Given the description of an element on the screen output the (x, y) to click on. 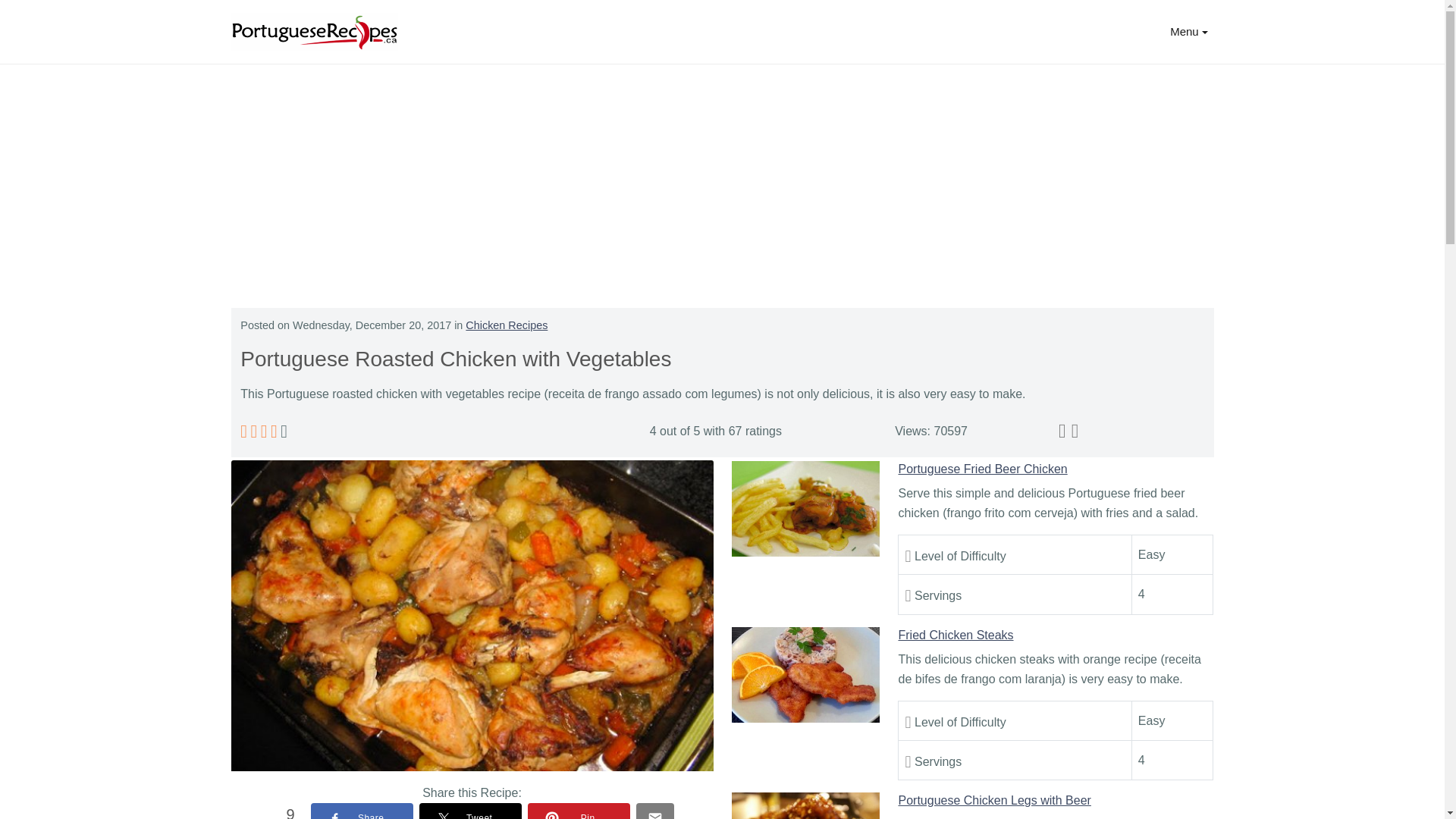
Portuguese Fried Beer Chicken (804, 508)
Fried Chicken Steaks (804, 674)
Portuguese Fried Beer Chicken (982, 468)
Chicken Recipes (506, 325)
Portuguese Chicken Legs with Beer (804, 805)
Portuguese Recipes - Traditional Food from Portugal (313, 31)
Menu (1187, 31)
Fried Chicken Steaks (955, 634)
